Given the description of an element on the screen output the (x, y) to click on. 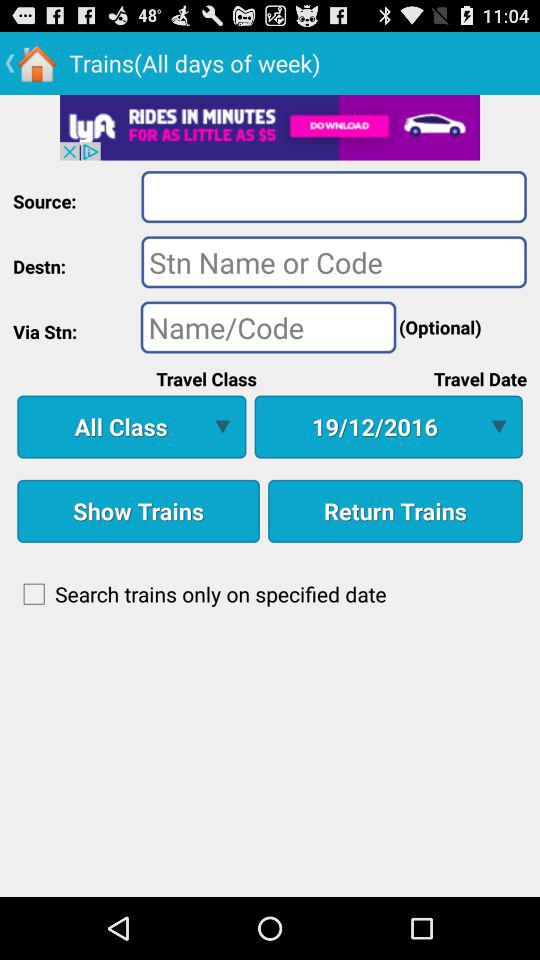
enter name (268, 327)
